Given the description of an element on the screen output the (x, y) to click on. 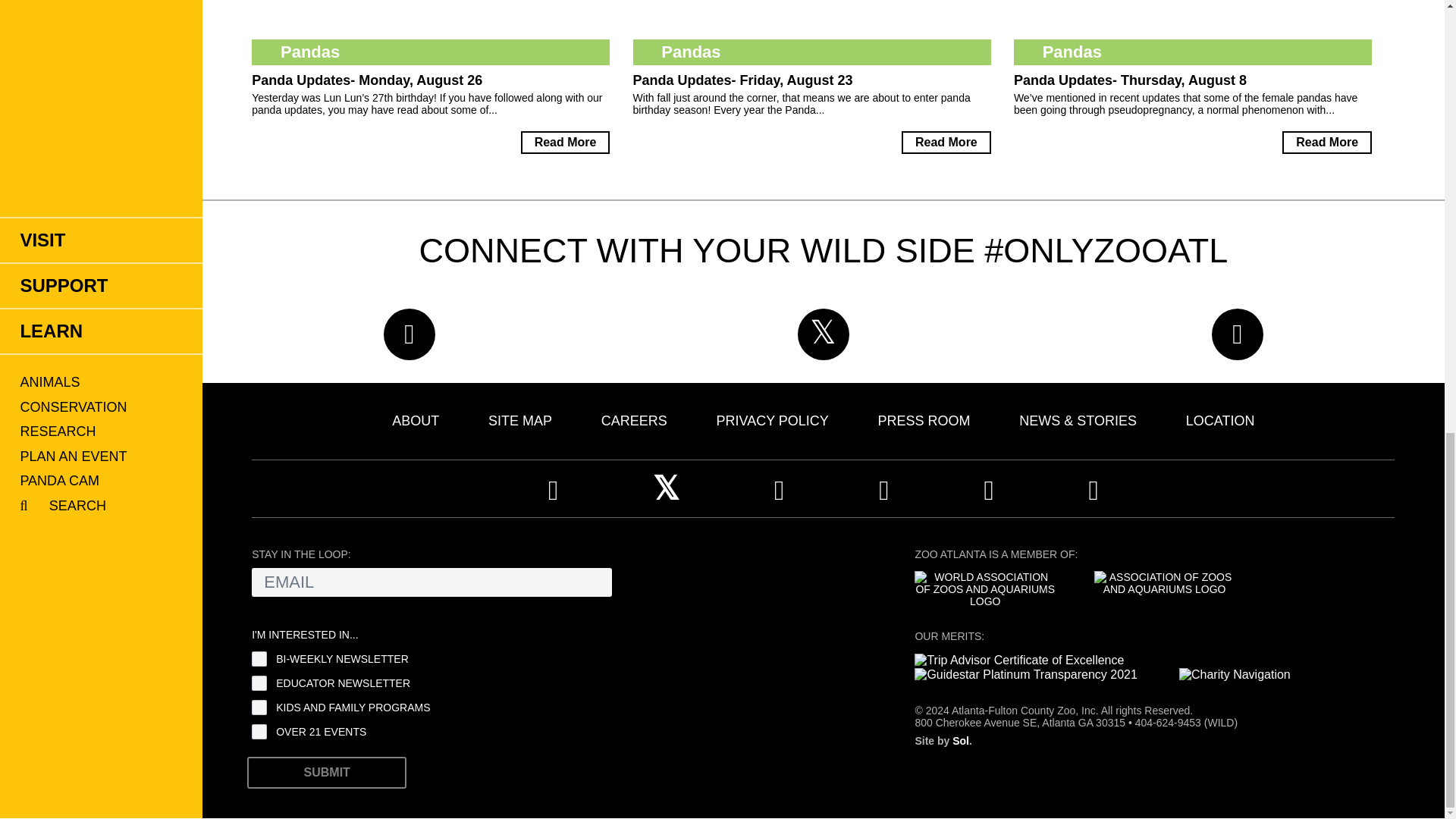
Educator Newsletter (258, 683)
Over 21 Events (258, 731)
Submit (326, 772)
Bi-weekly Newsletter (258, 658)
Kids and Family Programs (258, 707)
